Given the description of an element on the screen output the (x, y) to click on. 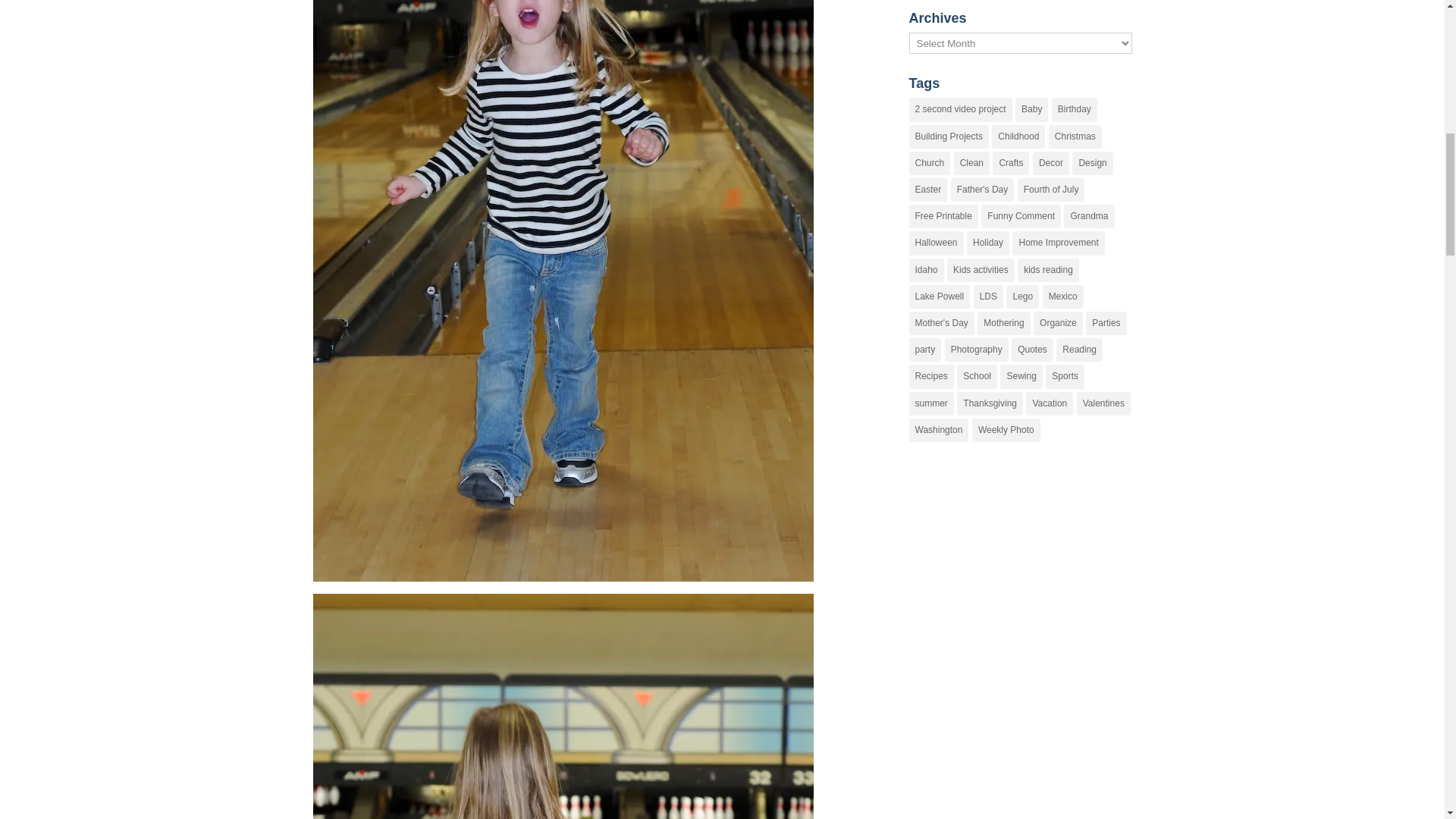
2 second video project (959, 109)
Building Projects (948, 136)
Decor (1050, 163)
Church (929, 163)
Birthday (1074, 109)
Crafts (1010, 163)
Design (1091, 163)
Clean (971, 163)
Baby (1031, 109)
Childhood (1018, 136)
